Given the description of an element on the screen output the (x, y) to click on. 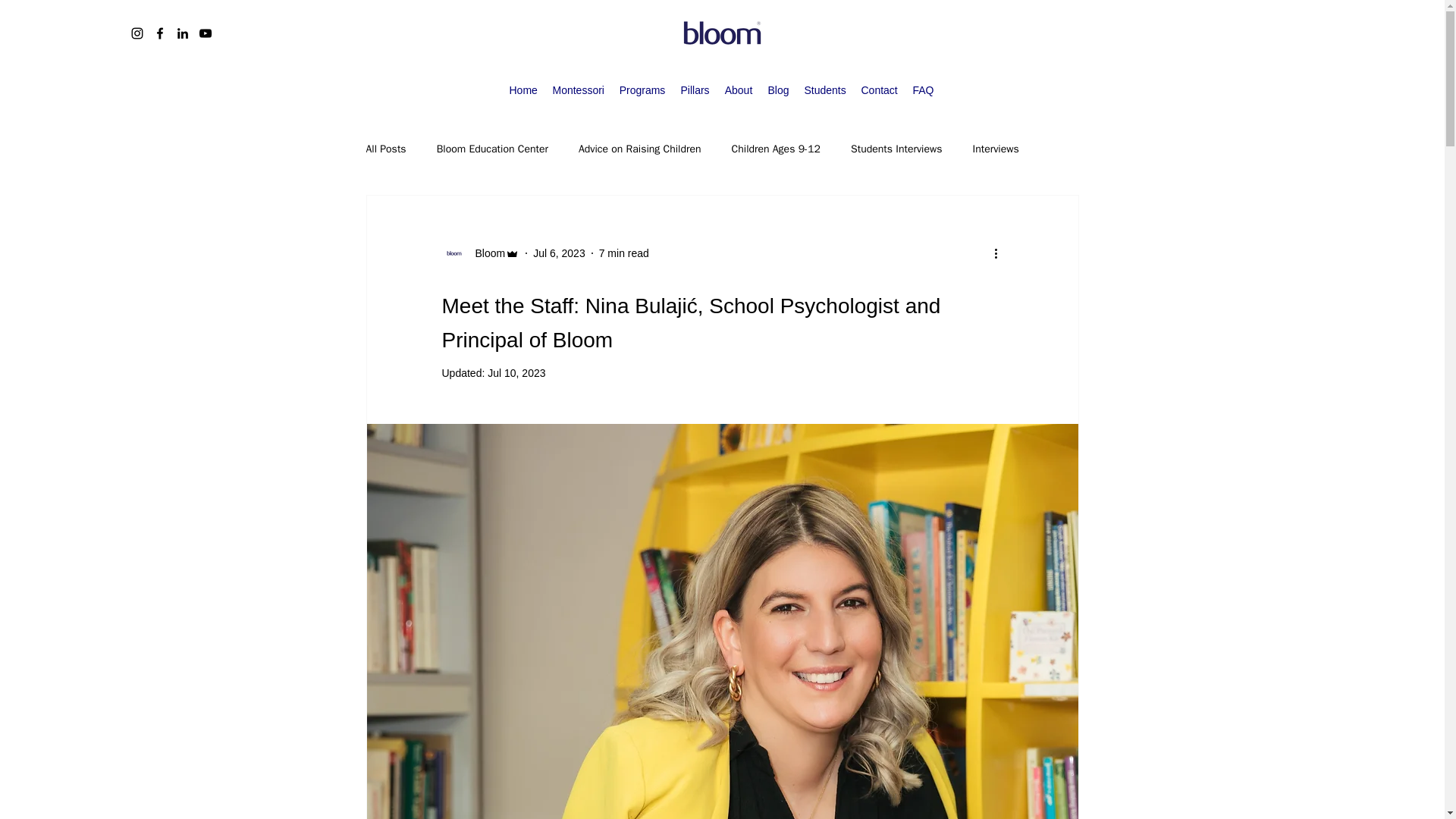
Interviews (995, 149)
Children Ages 9-12 (776, 149)
Jul 6, 2023 (558, 253)
Students Interviews (896, 149)
Advice on Raising Children (639, 149)
Students (824, 89)
Montessori (577, 89)
About (738, 89)
Blog (778, 89)
Bloom Education Center (492, 149)
Jul 10, 2023 (515, 372)
All Posts (385, 149)
Contact (879, 89)
FAQ (923, 89)
Home (523, 89)
